Given the description of an element on the screen output the (x, y) to click on. 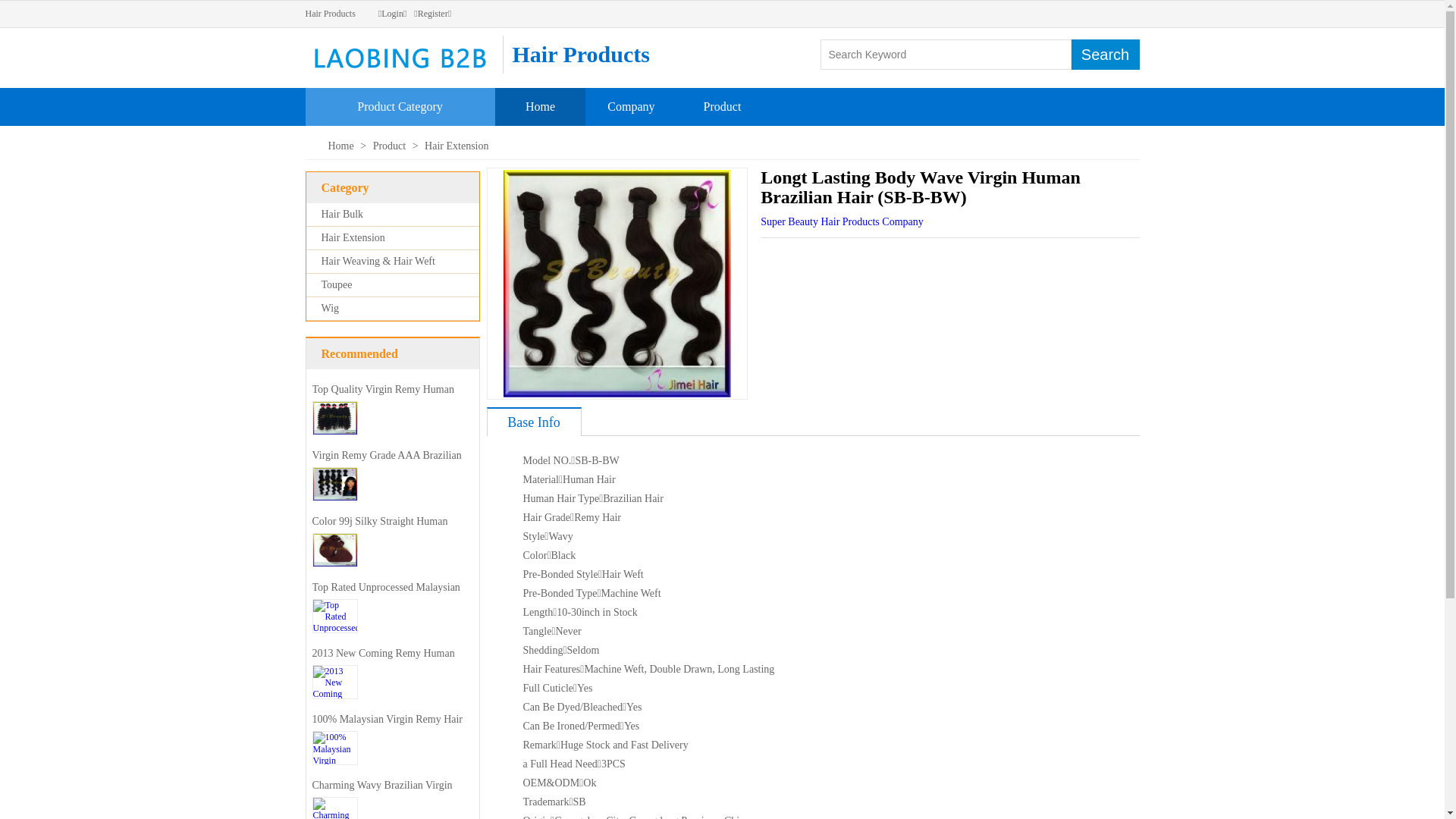
Home Element type: text (540, 106)
Company Element type: text (630, 106)
Search Element type: text (1104, 54)
Product Element type: text (722, 106)
Hair Extension Element type: text (353, 237)
Super Beauty Hair Products Company Element type: text (841, 221)
Toupee Element type: text (336, 284)
Product Element type: text (390, 145)
Product Category Element type: text (399, 106)
Hair Weaving & Hair Weft Element type: text (378, 260)
Home Element type: text (340, 145)
Hair Products Element type: text (329, 13)
Hair Extension Element type: text (456, 145)
2013 New Coming Remy Human Virgin Hair Weave (SB-B-LW) Element type: text (383, 664)
Hair Bulk Element type: text (342, 213)
Wig Element type: text (330, 307)
